Given the description of an element on the screen output the (x, y) to click on. 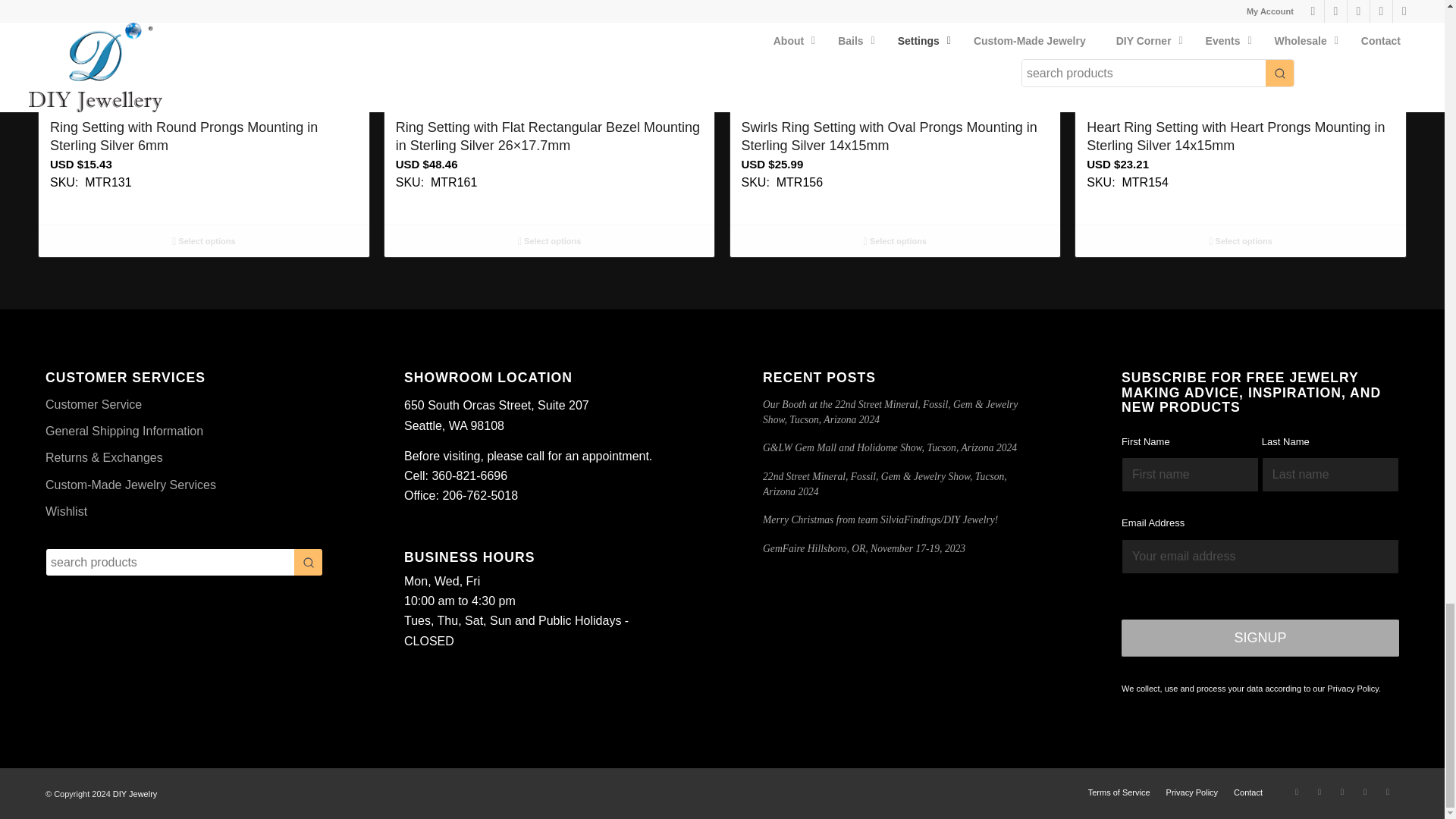
search products (170, 561)
SIGNUP (1260, 637)
search products (170, 561)
